Given the description of an element on the screen output the (x, y) to click on. 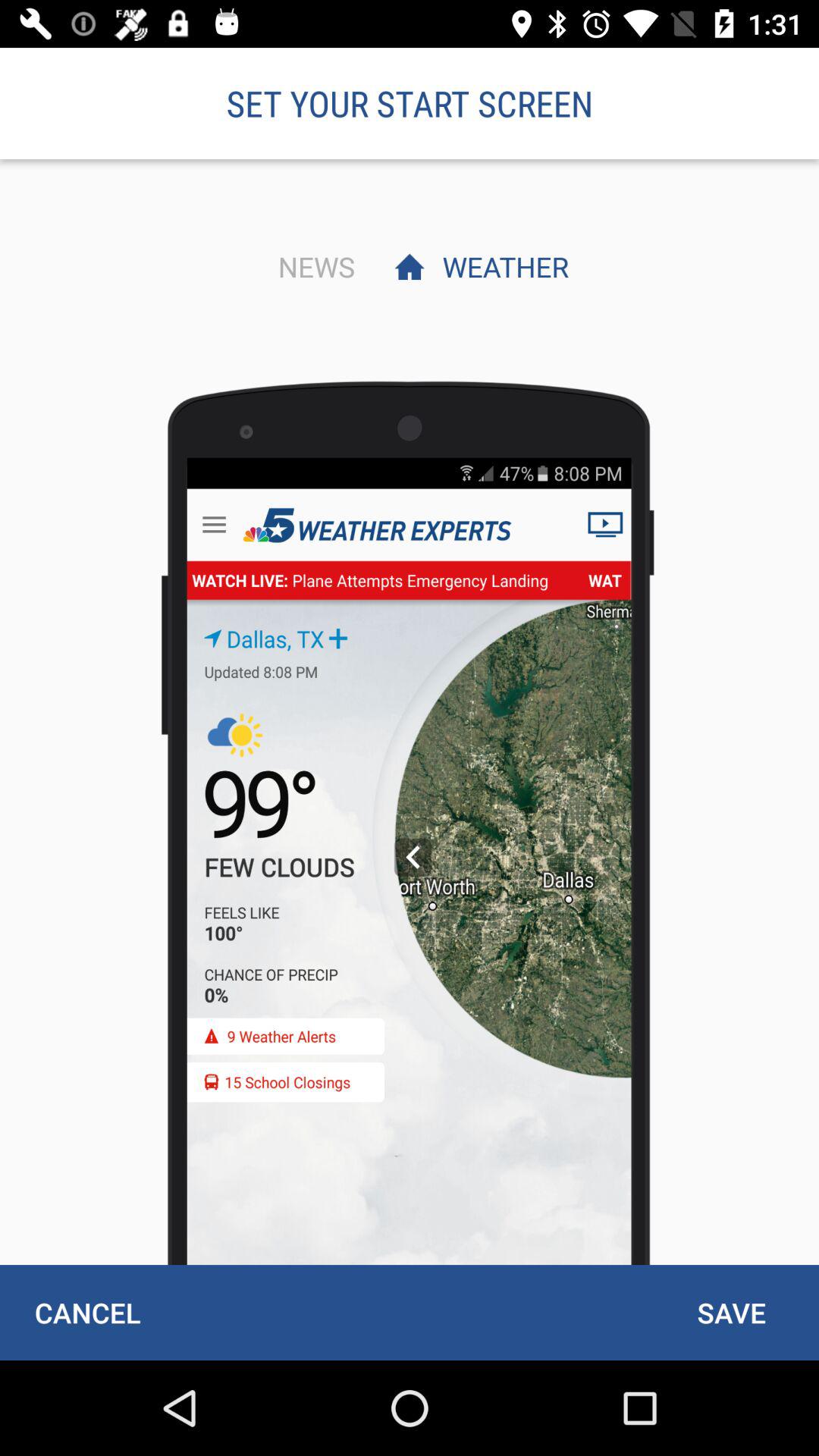
turn on cancel item (87, 1312)
